Given the description of an element on the screen output the (x, y) to click on. 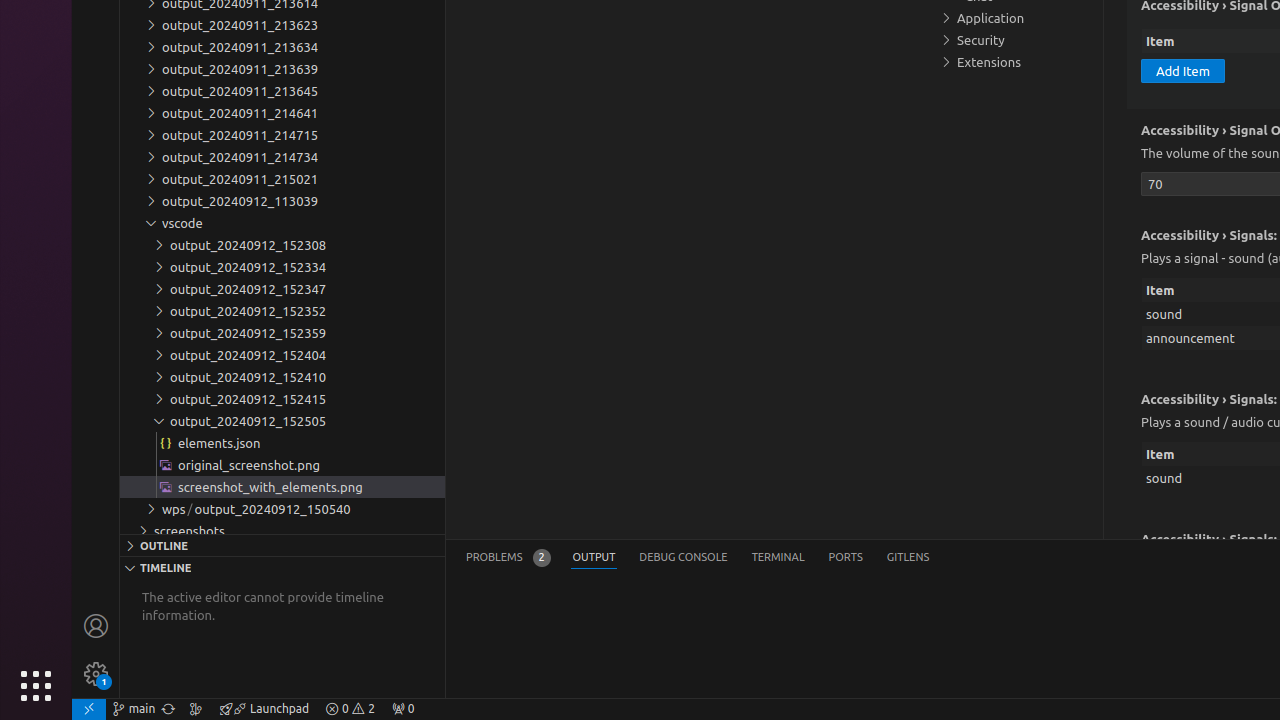
output_20240912_152334 Element type: tree-item (282, 267)
output_20240912_152347 Element type: tree-item (282, 289)
GitLens Element type: page-tab (908, 557)
More Actions... (Shift+F9) Element type: push-button (1116, 537)
output_20240912_152308 Element type: tree-item (282, 245)
